Given the description of an element on the screen output the (x, y) to click on. 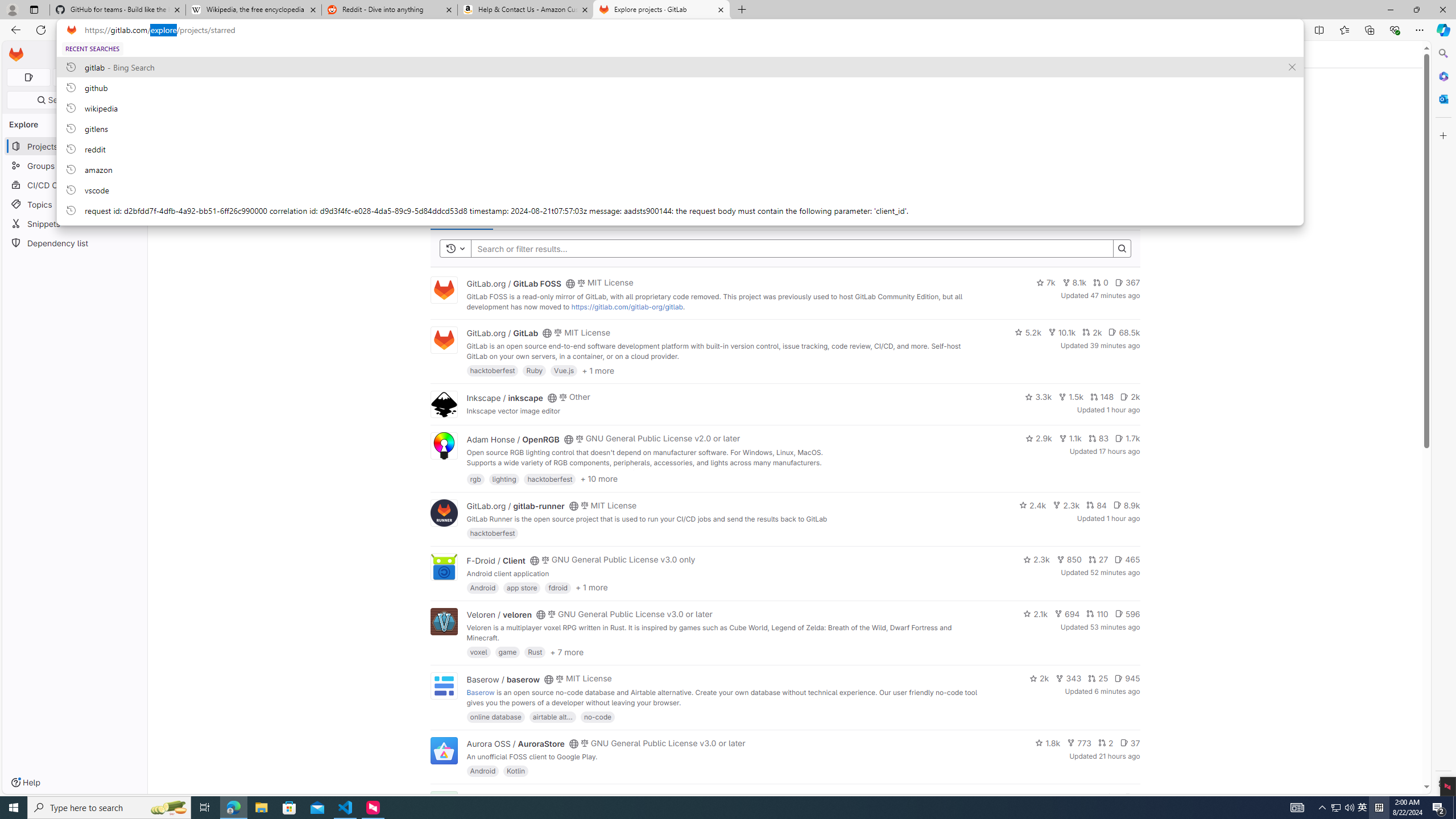
amazon, recent searches from history (679, 168)
2.9k (1038, 438)
+ 7 more (566, 651)
Start your free trial (514, 144)
8.1k (1073, 282)
no-code (597, 715)
84 (1096, 504)
6 (1132, 797)
F-Droid / Client (495, 560)
Adam Honse / OpenRGB (512, 438)
143 (1085, 797)
2.4k (1032, 504)
